Given the description of an element on the screen output the (x, y) to click on. 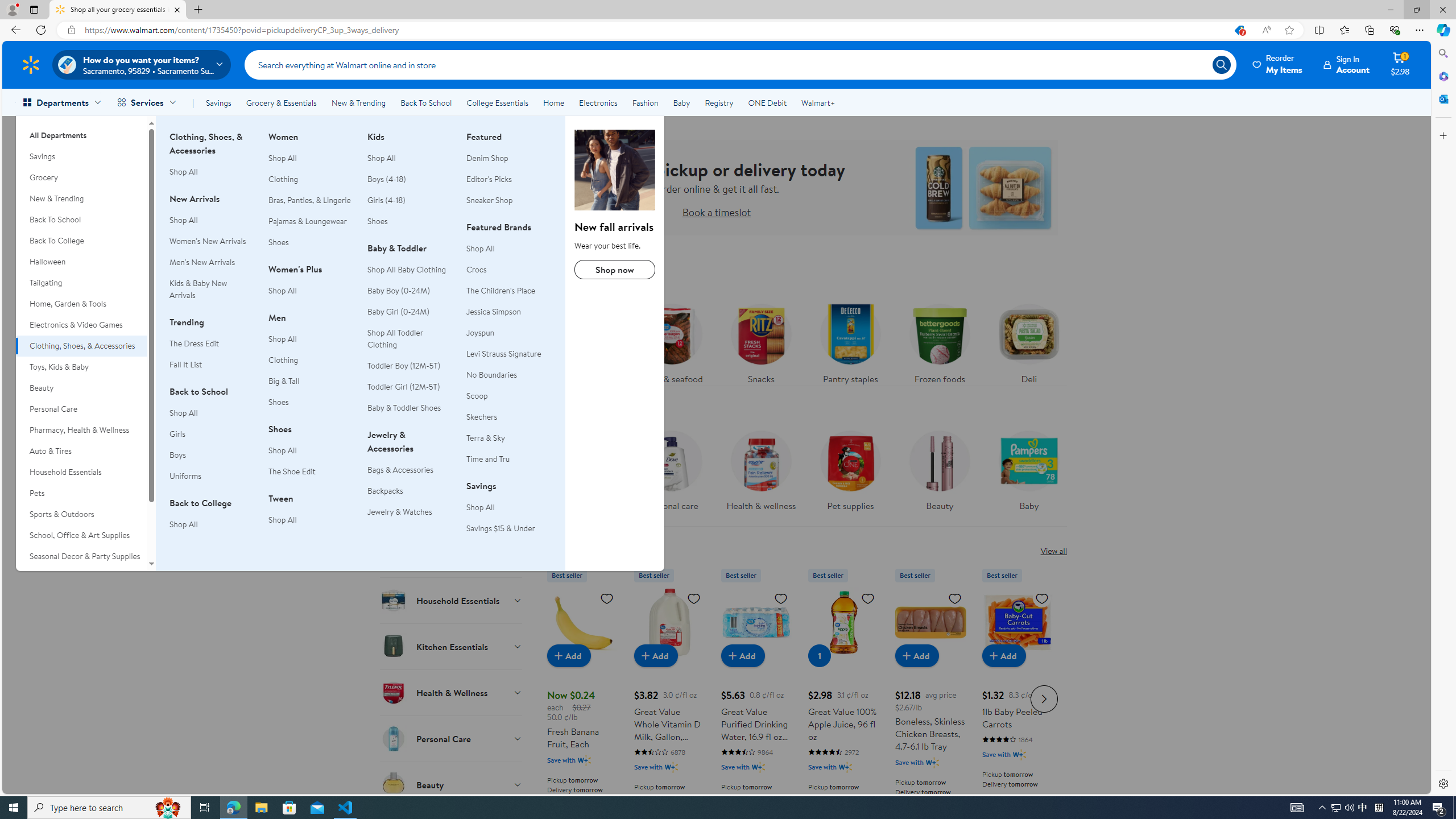
Denim Shop (508, 158)
All Departments (81, 130)
Cart contains 1 item Total Amount $2.98 (1399, 64)
ONE Debit (767, 102)
Add to cart - Fresh Banana Fruit, Each (569, 655)
Pajamas & Loungewear (310, 221)
Seasonal Decor & Party Supplies (81, 556)
Pharmacy, Health & Wellness (81, 429)
The Dress Edit (211, 343)
Shop All Baby Clothing (406, 269)
Crocs (475, 269)
Sign In Account (1347, 64)
Pet supplies (850, 467)
